Given the description of an element on the screen output the (x, y) to click on. 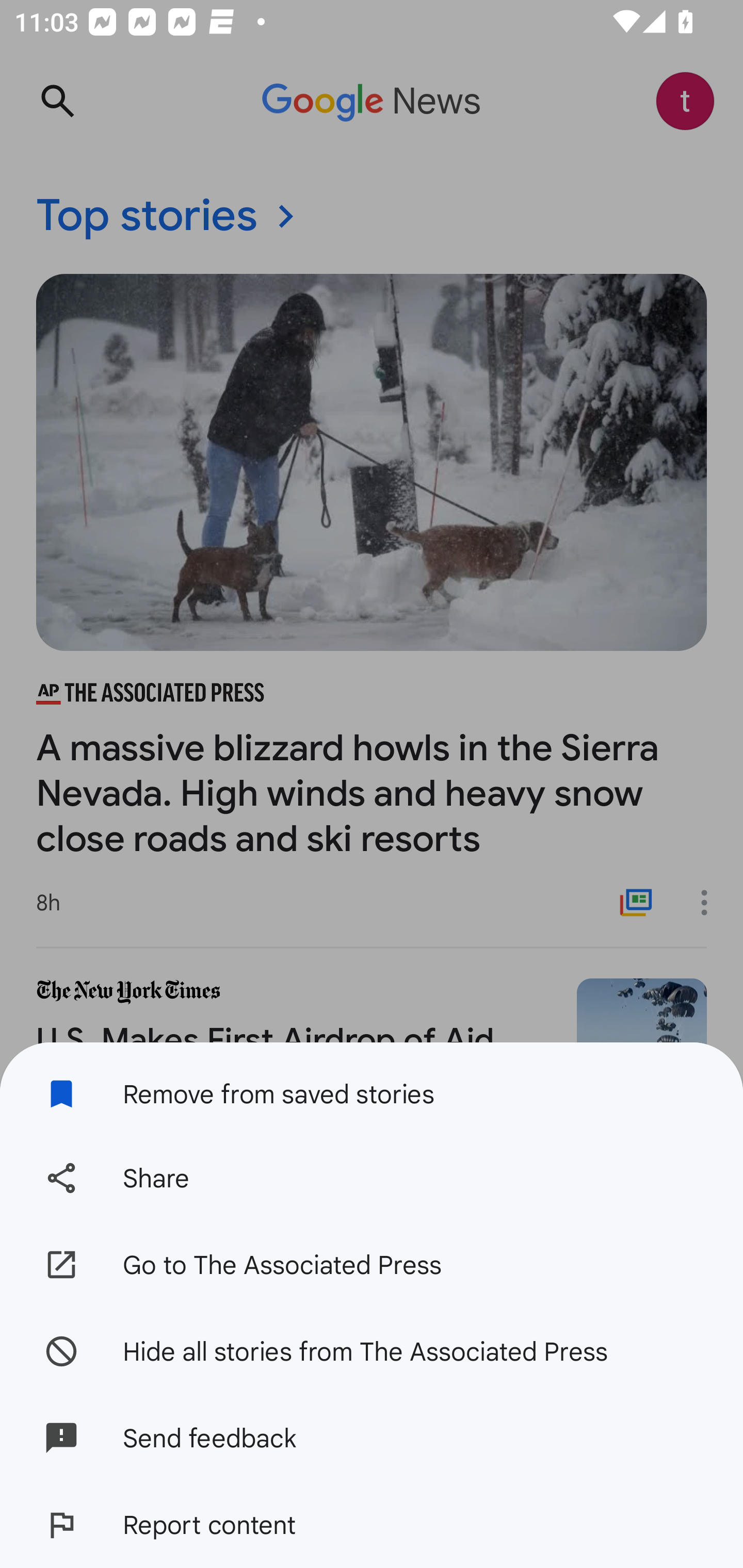
Remove from saved stories (371, 1088)
Share (371, 1178)
Go to The Associated Press (371, 1264)
Hide all stories from The Associated Press (371, 1350)
Send feedback (371, 1437)
Report content (371, 1524)
